Given the description of an element on the screen output the (x, y) to click on. 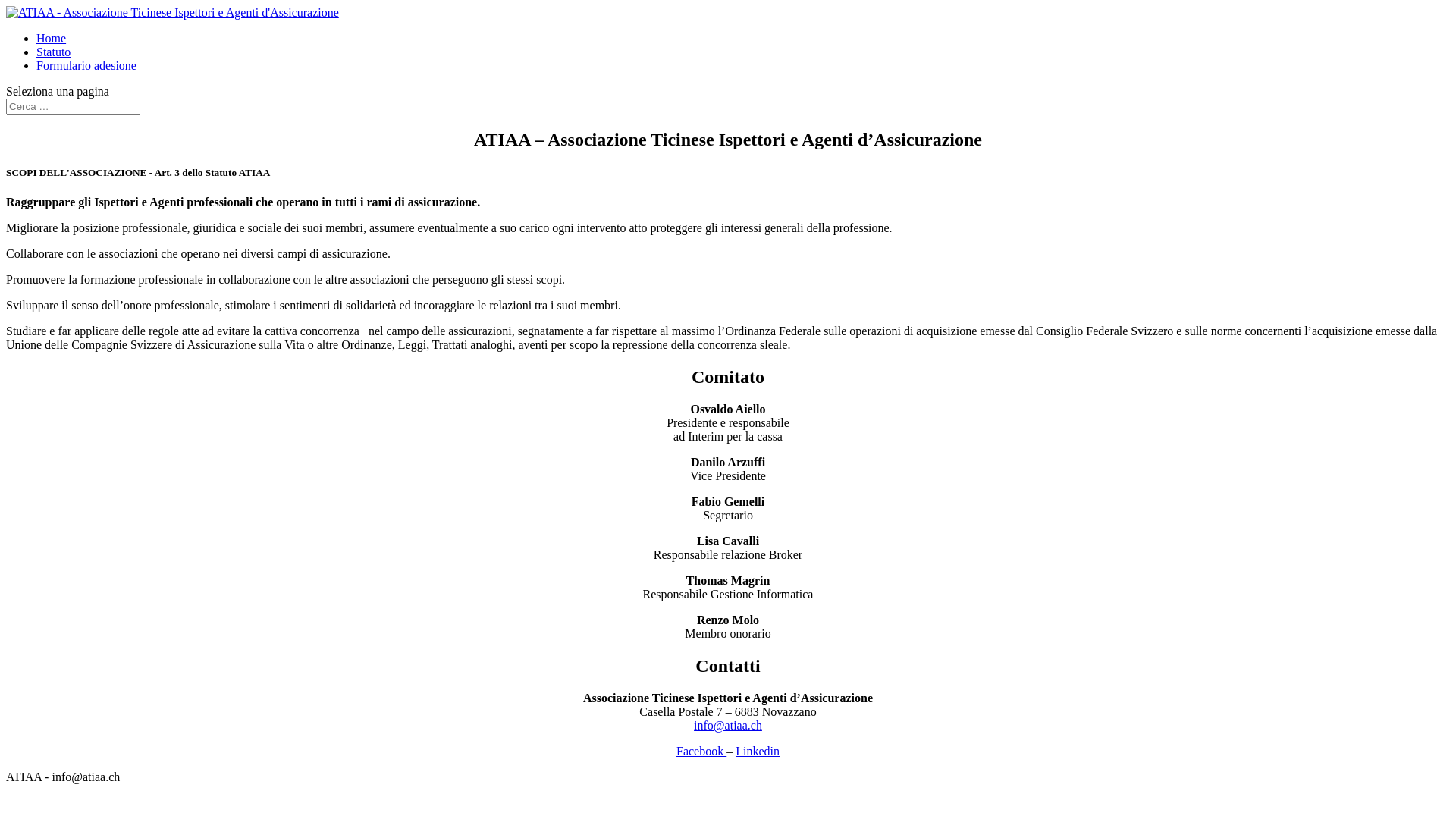
Home Element type: text (50, 37)
Facebook Element type: text (701, 750)
info@atiaa.ch Element type: text (727, 724)
Statuto Element type: text (53, 51)
Formulario adesione Element type: text (86, 65)
Cerca: Element type: hover (73, 106)
Linkedin Element type: text (757, 750)
